Given the description of an element on the screen output the (x, y) to click on. 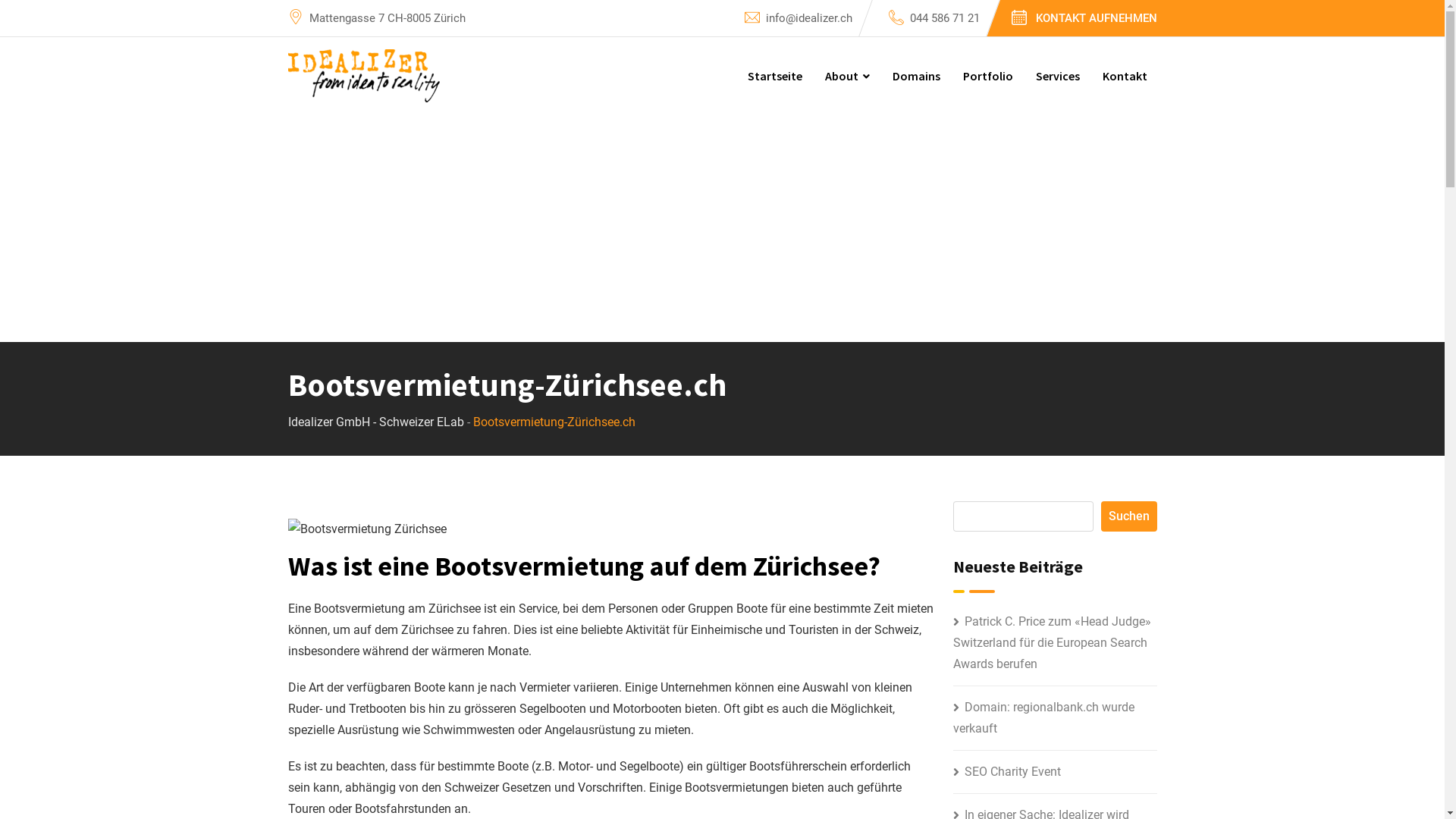
KONTAKT AUFNEHMEN Element type: text (1096, 19)
Domains Element type: text (916, 75)
Suchen Element type: text (1129, 516)
Startseite Element type: text (774, 75)
Domain: regionalbank.ch wurde verkauft Element type: text (1043, 717)
SEO Charity Event Element type: text (1006, 771)
info@idealizer.ch Element type: text (808, 18)
Portfolio Element type: text (987, 75)
Idealizer GmbH - Schweizer ELab Element type: text (376, 421)
Kontakt Element type: text (1124, 75)
Services Element type: text (1056, 75)
044 586 71 21 Element type: text (944, 18)
Advertisement Element type: hover (721, 228)
About Element type: text (846, 75)
